Given the description of an element on the screen output the (x, y) to click on. 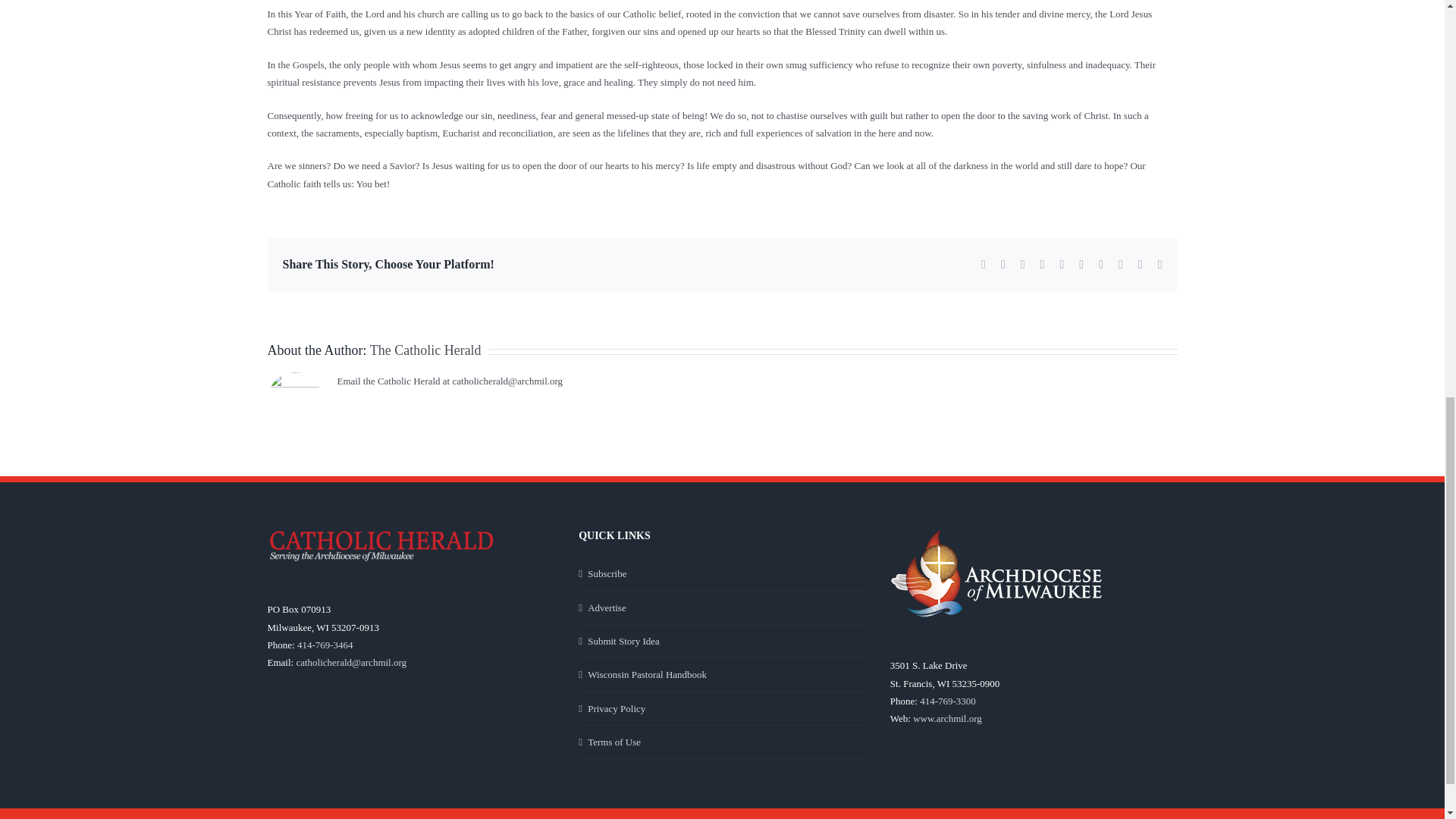
Posts by The Catholic Herald (425, 350)
